Given the description of an element on the screen output the (x, y) to click on. 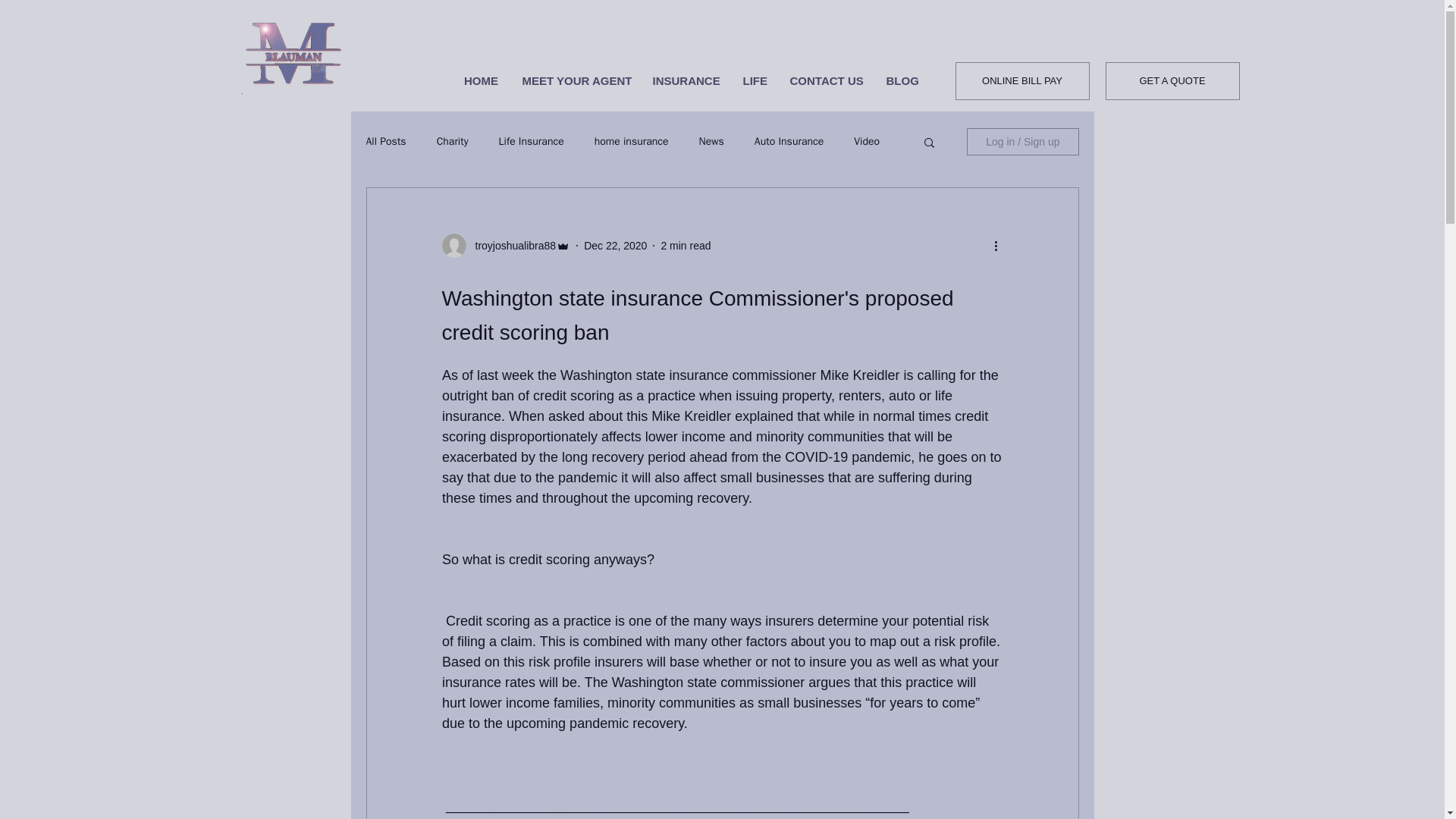
Video (866, 141)
troyjoshualibra88 (510, 245)
INSURANCE (687, 80)
CONTACT US (826, 80)
ONLINE BILL PAY (1022, 80)
HOME (481, 80)
home insurance (631, 141)
Dec 22, 2020 (614, 245)
Charity (452, 141)
MEET YOUR AGENT (576, 80)
Auto Insurance (789, 141)
Life Insurance (531, 141)
BLOG (902, 80)
LIFE (753, 80)
All Posts (385, 141)
